Given the description of an element on the screen output the (x, y) to click on. 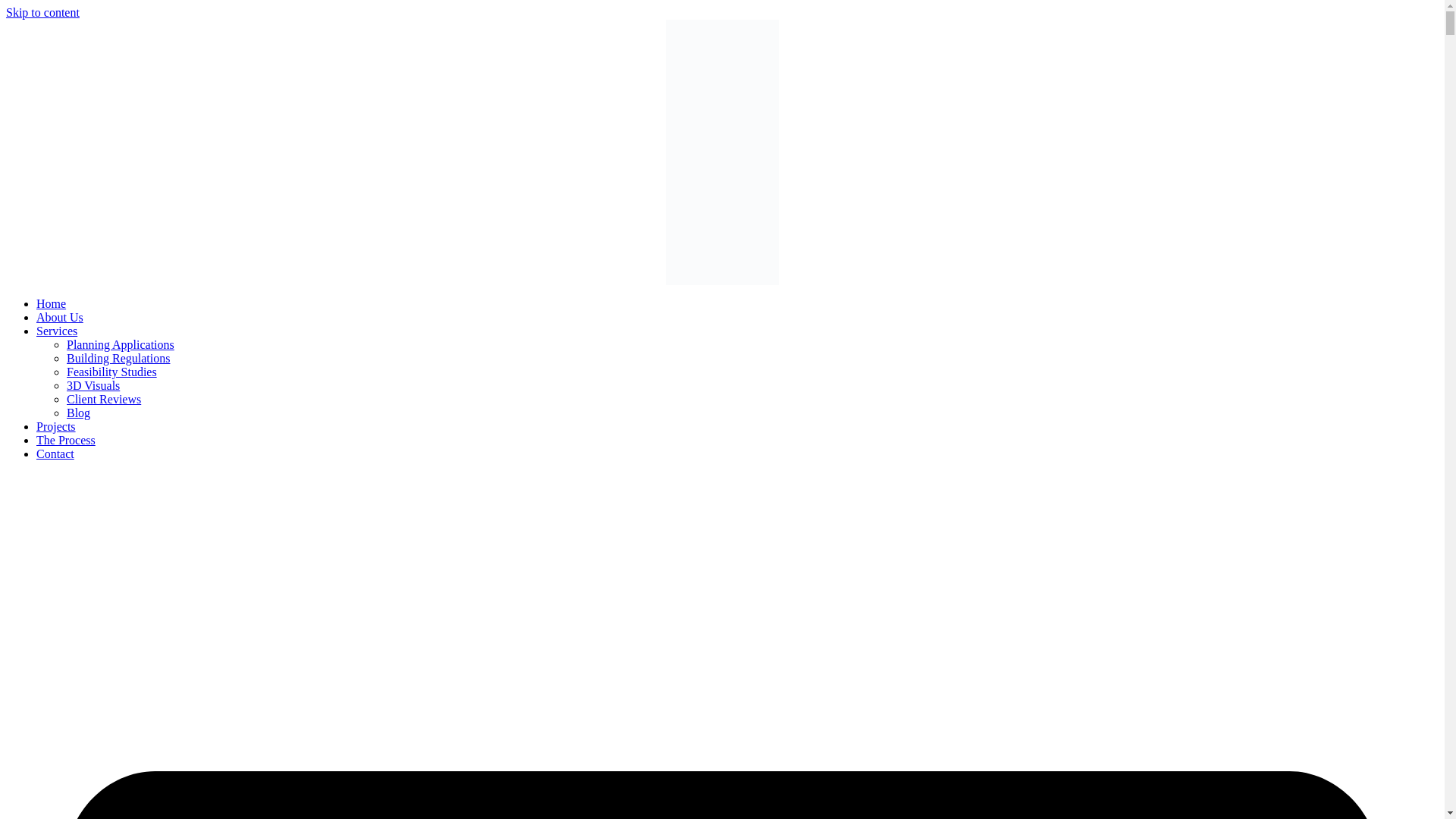
Skip to content (42, 11)
Client Reviews (103, 399)
The Process (66, 440)
Blog (78, 412)
Building Regulations (118, 358)
Services (56, 330)
Feasibility Studies (111, 371)
About Us (59, 317)
Contact (55, 453)
3D Visuals (92, 385)
